Given the description of an element on the screen output the (x, y) to click on. 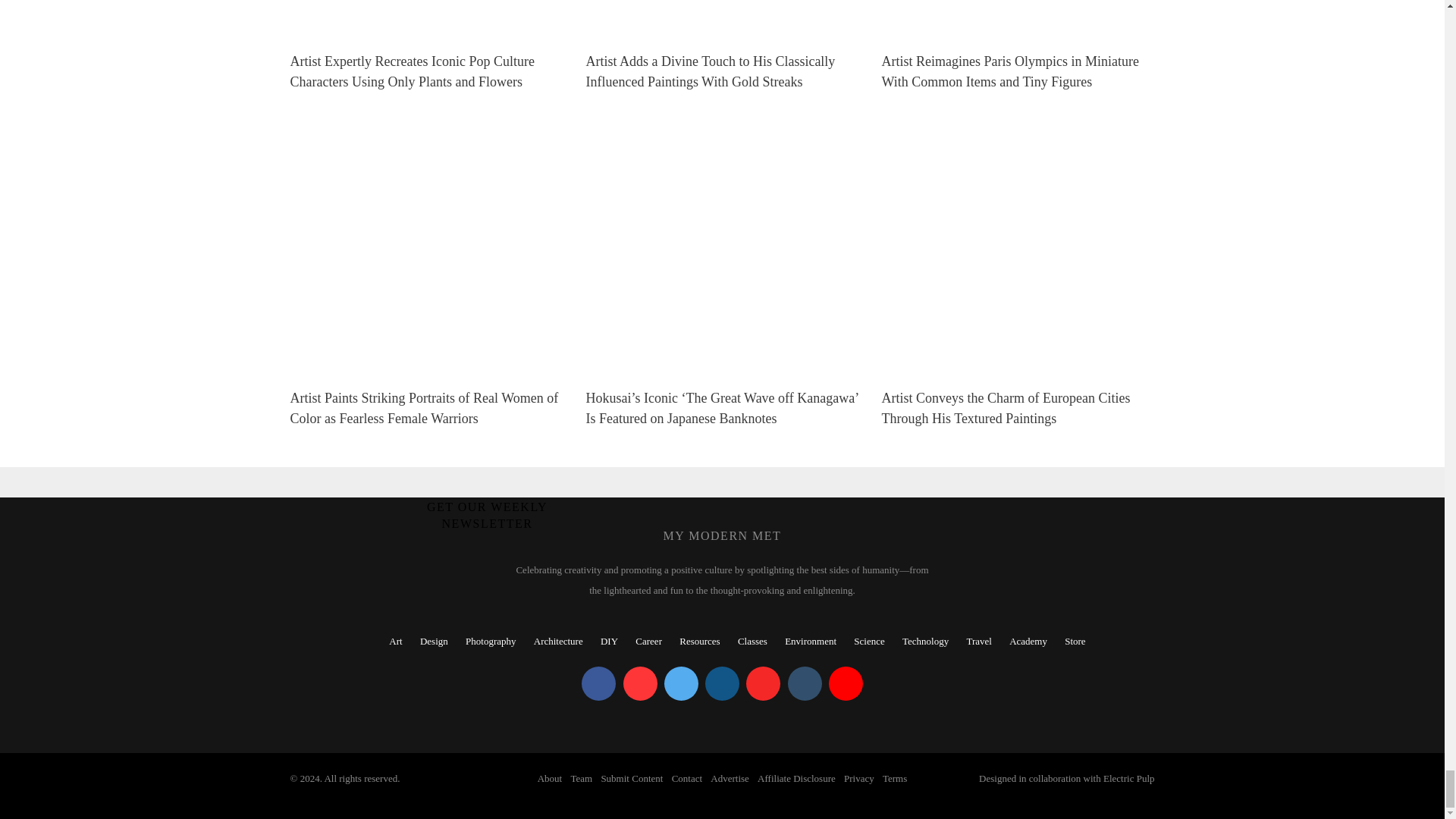
My Modern Met on Twitter (680, 683)
My Modern Met on Tumblr (804, 683)
My Modern Met on YouTube (845, 683)
My Modern Met on Pinterest (640, 683)
My Modern Met on Facebook (597, 683)
My Modern Met on Instagram (721, 683)
